Given the description of an element on the screen output the (x, y) to click on. 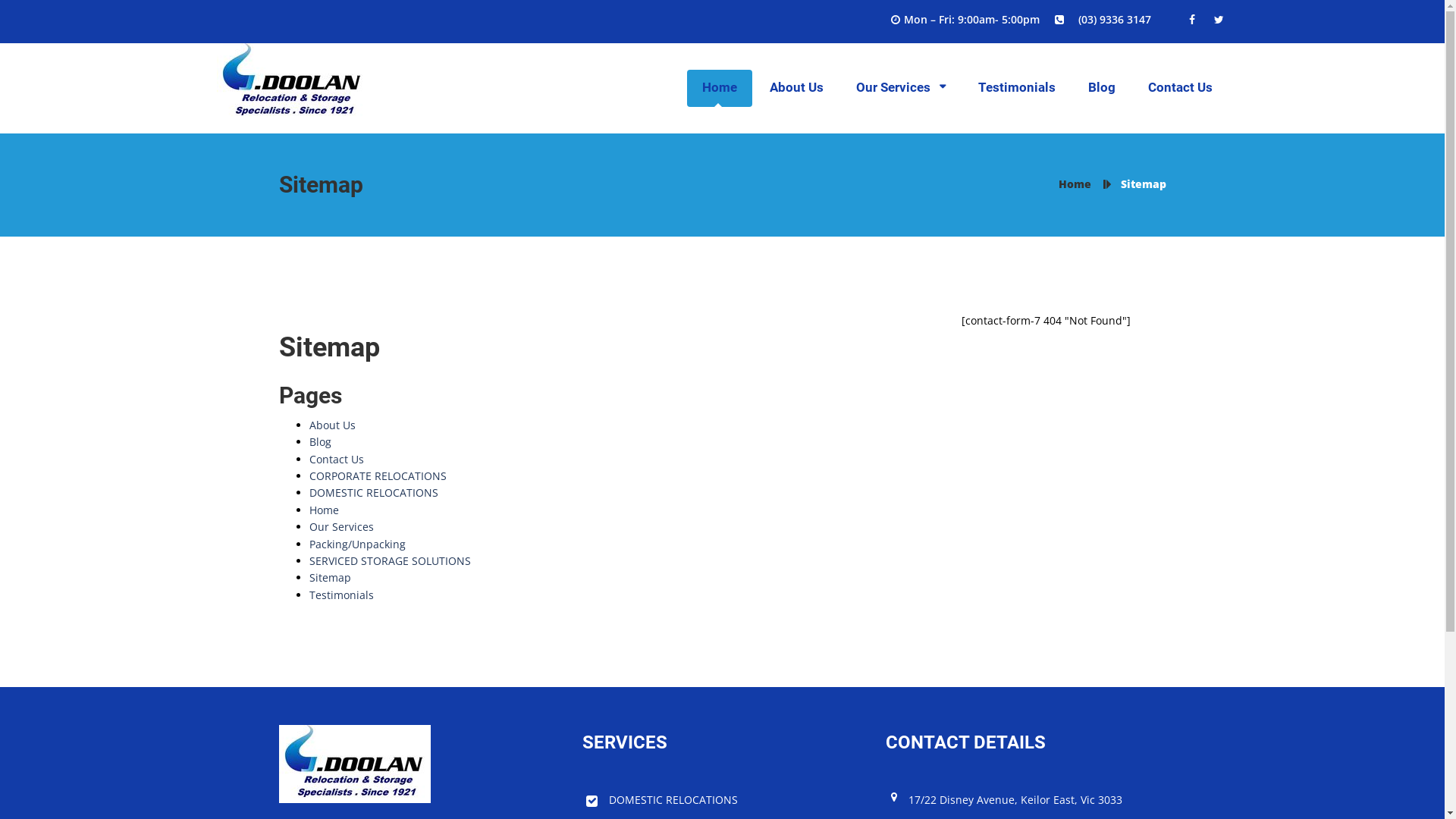
Contact Us Element type: text (1179, 87)
DOMESTIC RELOCATIONS Element type: text (373, 492)
Home Element type: text (719, 87)
DOMESTIC RELOCATIONS Element type: text (661, 799)
About Us Element type: text (332, 424)
Packing/Unpacking Element type: text (357, 543)
Facebook Element type: hover (1193, 19)
(03) 9336 3147 Element type: text (1110, 19)
Home Element type: text (1074, 183)
Our Services Element type: text (341, 526)
Twitter Element type: hover (1216, 19)
Testimonials Element type: text (1016, 87)
Contact Us Element type: text (336, 458)
About Us Element type: text (796, 87)
CORPORATE RELOCATIONS Element type: text (377, 475)
Home Element type: text (323, 509)
Sitemap Element type: text (330, 577)
Blog Element type: text (1101, 87)
Our Services Element type: text (900, 87)
Blog Element type: text (320, 441)
Testimonials Element type: text (341, 594)
SERVICED STORAGE SOLUTIONS Element type: text (389, 560)
